Given the description of an element on the screen output the (x, y) to click on. 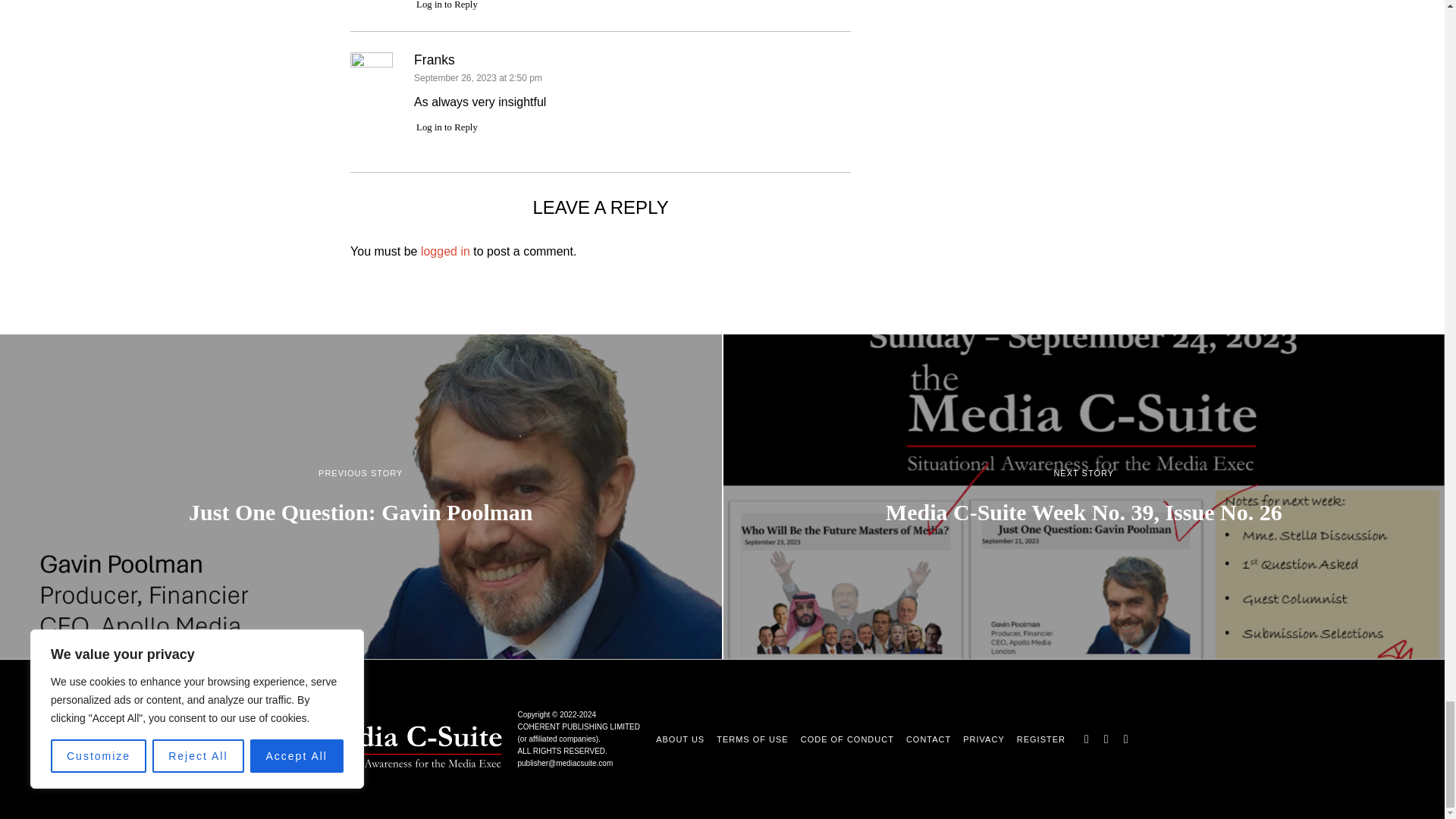
Twitter (1106, 739)
Facebook (1086, 739)
LinkedIn (1125, 739)
